Given the description of an element on the screen output the (x, y) to click on. 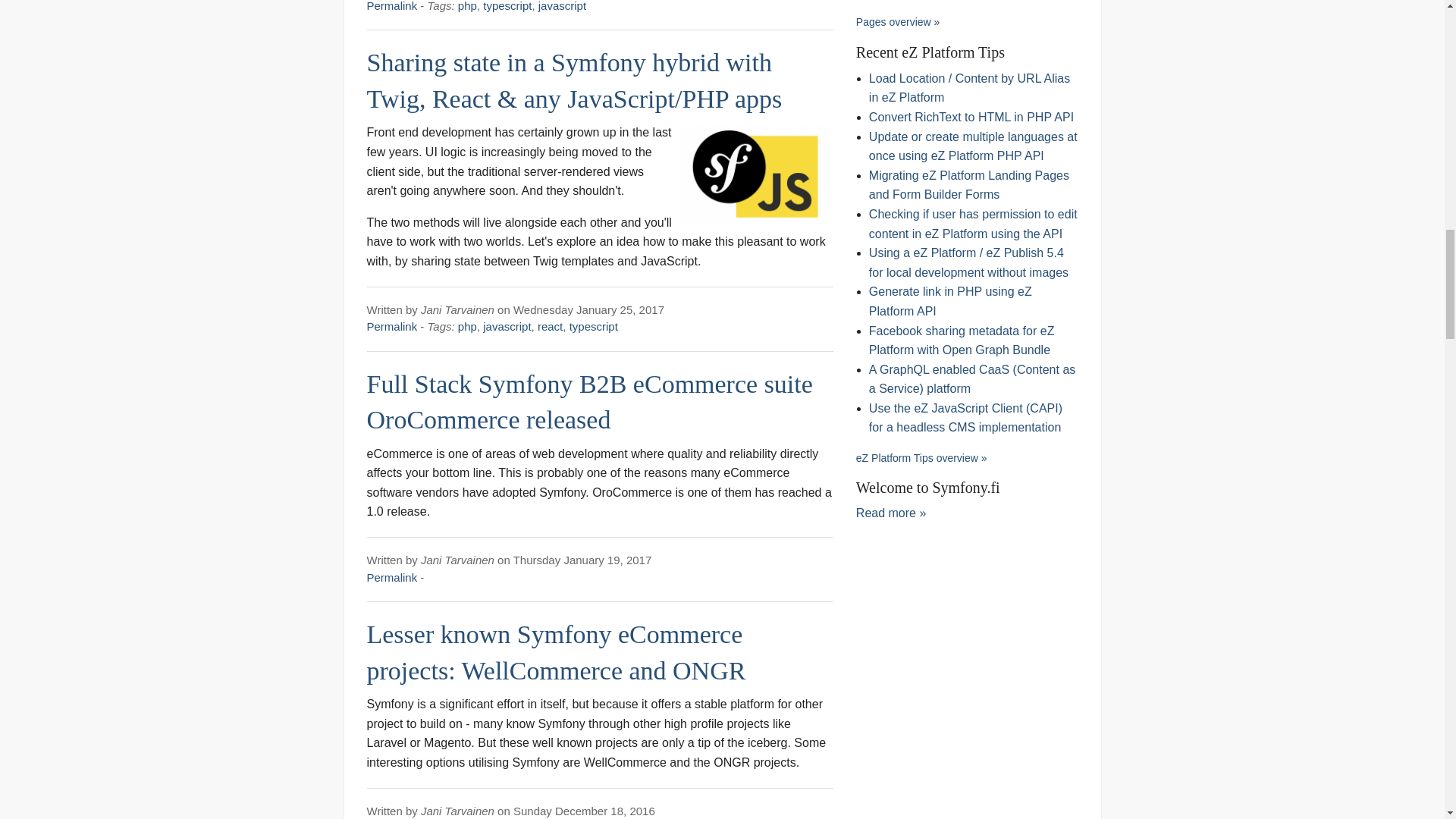
react (549, 326)
typescript (507, 6)
javascript (507, 326)
Permalink (391, 6)
typescript (593, 326)
Permalink (391, 576)
php (467, 326)
javascript (562, 6)
Permalink (391, 326)
php (467, 6)
Full Stack Symfony B2B eCommerce suite OroCommerce released (589, 402)
